Given the description of an element on the screen output the (x, y) to click on. 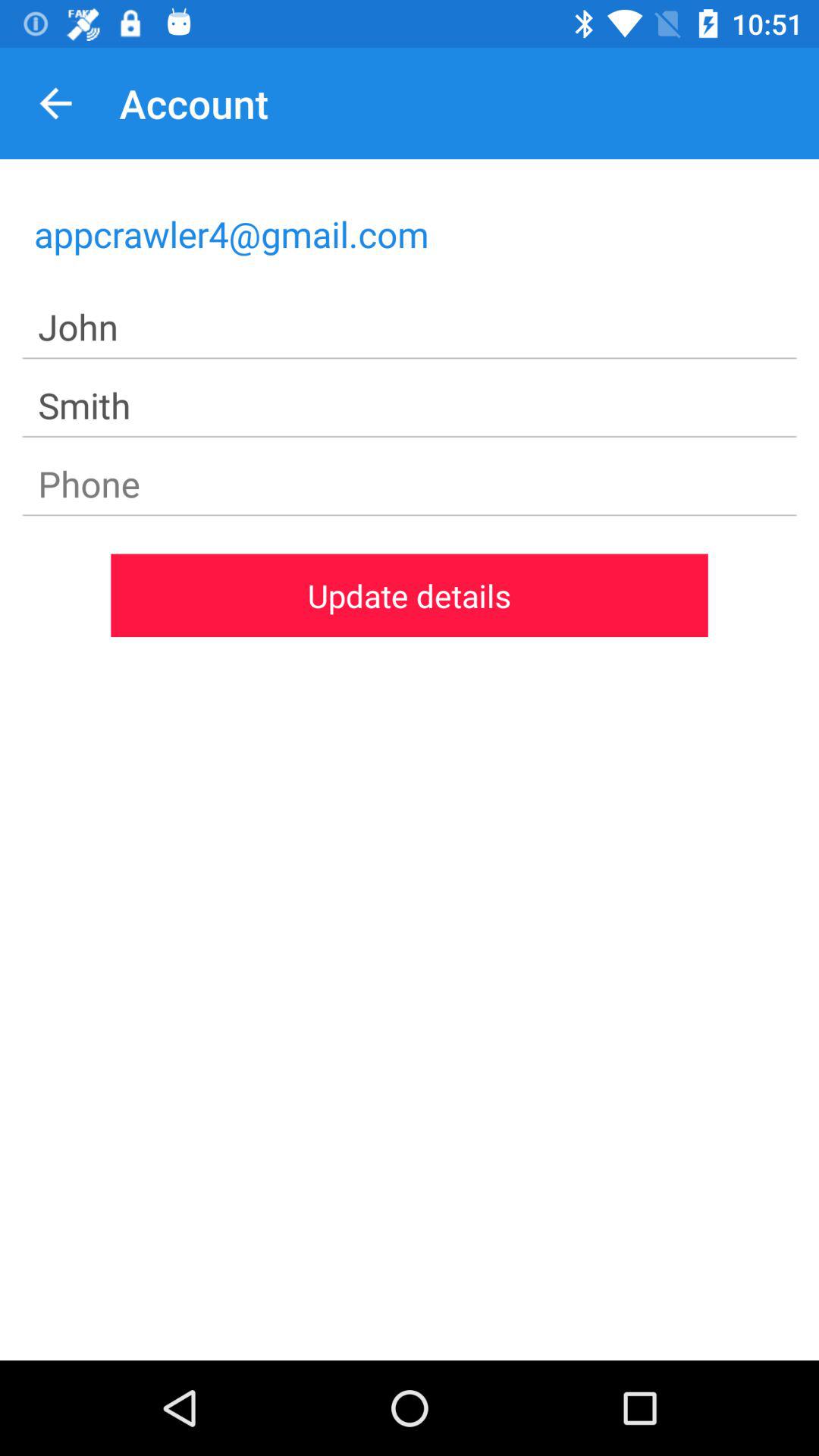
turn off the icon above the smith icon (409, 327)
